Given the description of an element on the screen output the (x, y) to click on. 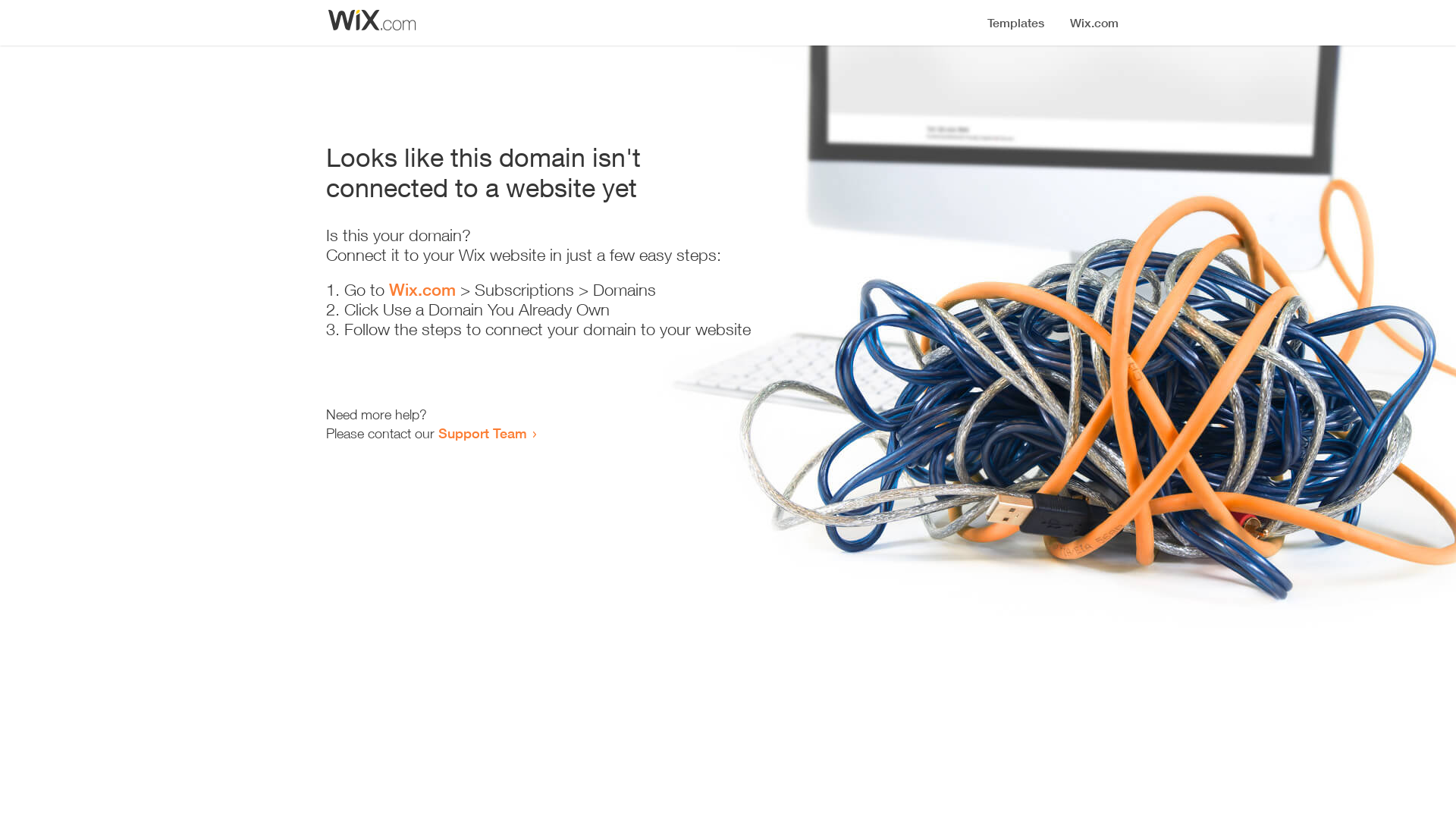
Wix.com Element type: text (422, 289)
Support Team Element type: text (482, 432)
